Given the description of an element on the screen output the (x, y) to click on. 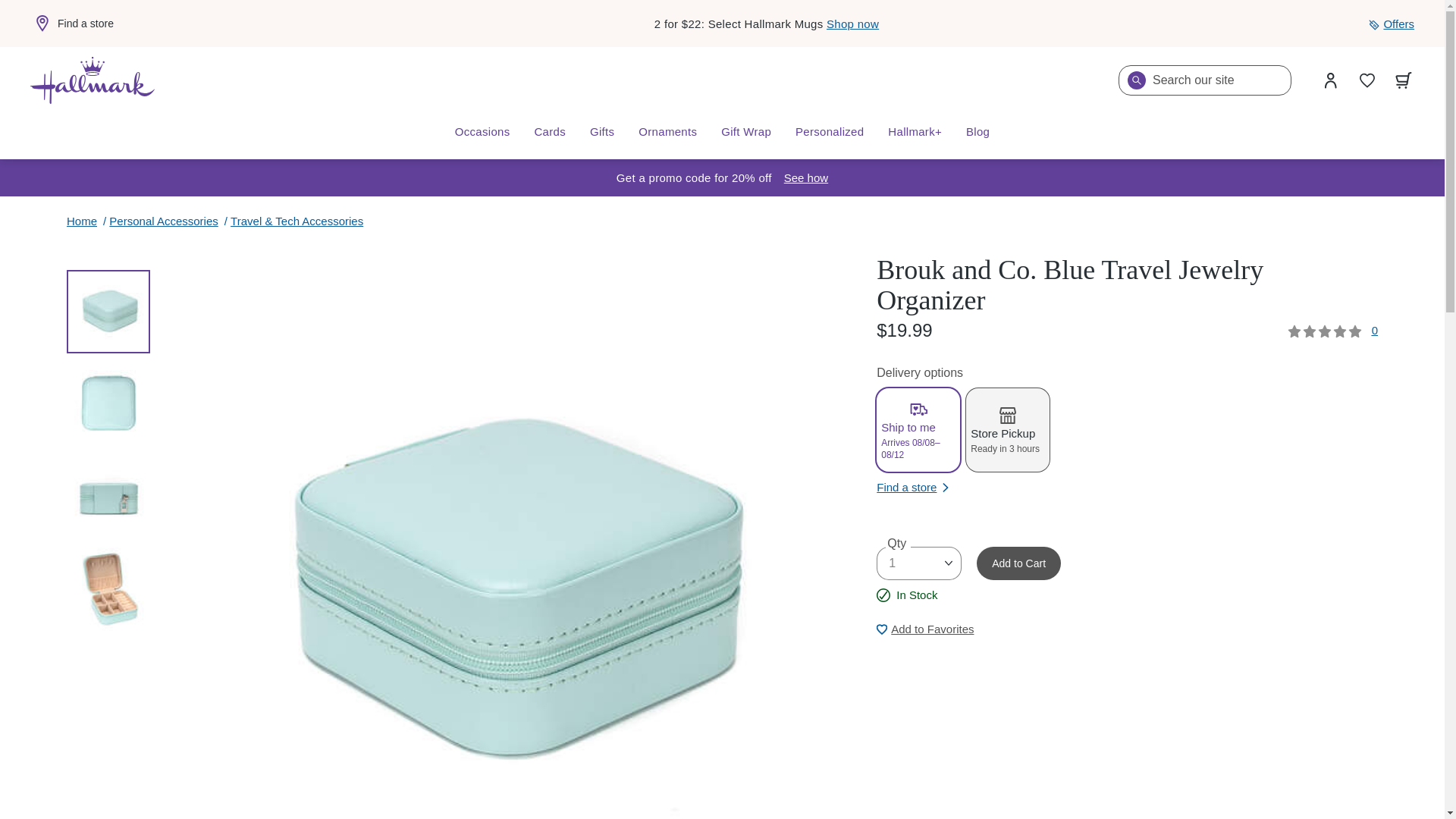
Open shipping dates modal (806, 177)
Shop now (853, 22)
Find a store (71, 23)
Home page (92, 80)
Search (1135, 80)
Offers (1390, 23)
Wish List (1367, 80)
View your cart (1404, 80)
